Given the description of an element on the screen output the (x, y) to click on. 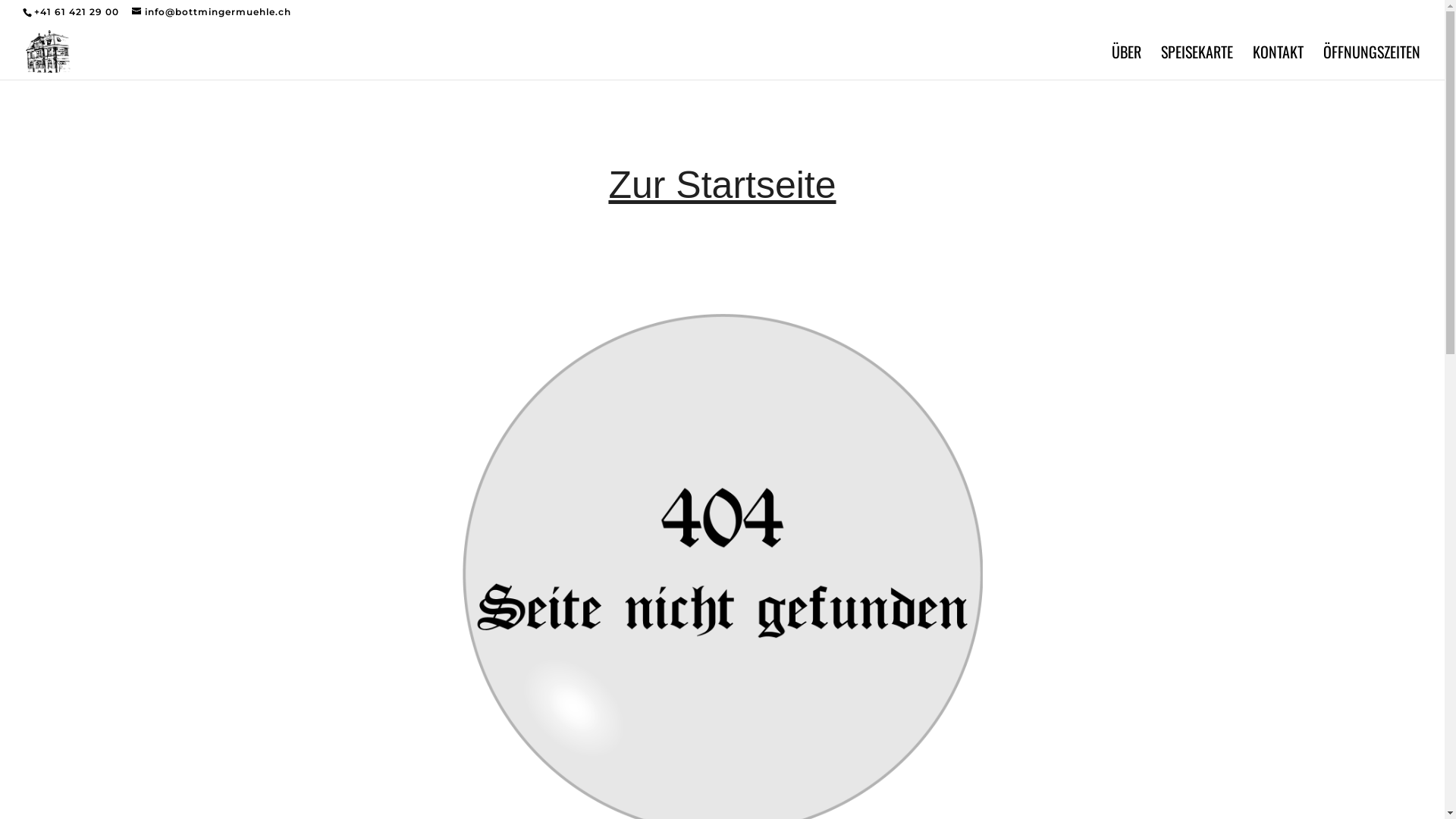
KONTAKT Element type: text (1277, 62)
info@bottmingermuehle.ch Element type: text (827, 711)
Folge auf Facebook Element type: hover (186, 736)
Folge auf Instagram Element type: hover (156, 736)
SPEISEKARTE Element type: text (1197, 62)
info@bottmingermuehle.ch Element type: text (211, 11)
